Given the description of an element on the screen output the (x, y) to click on. 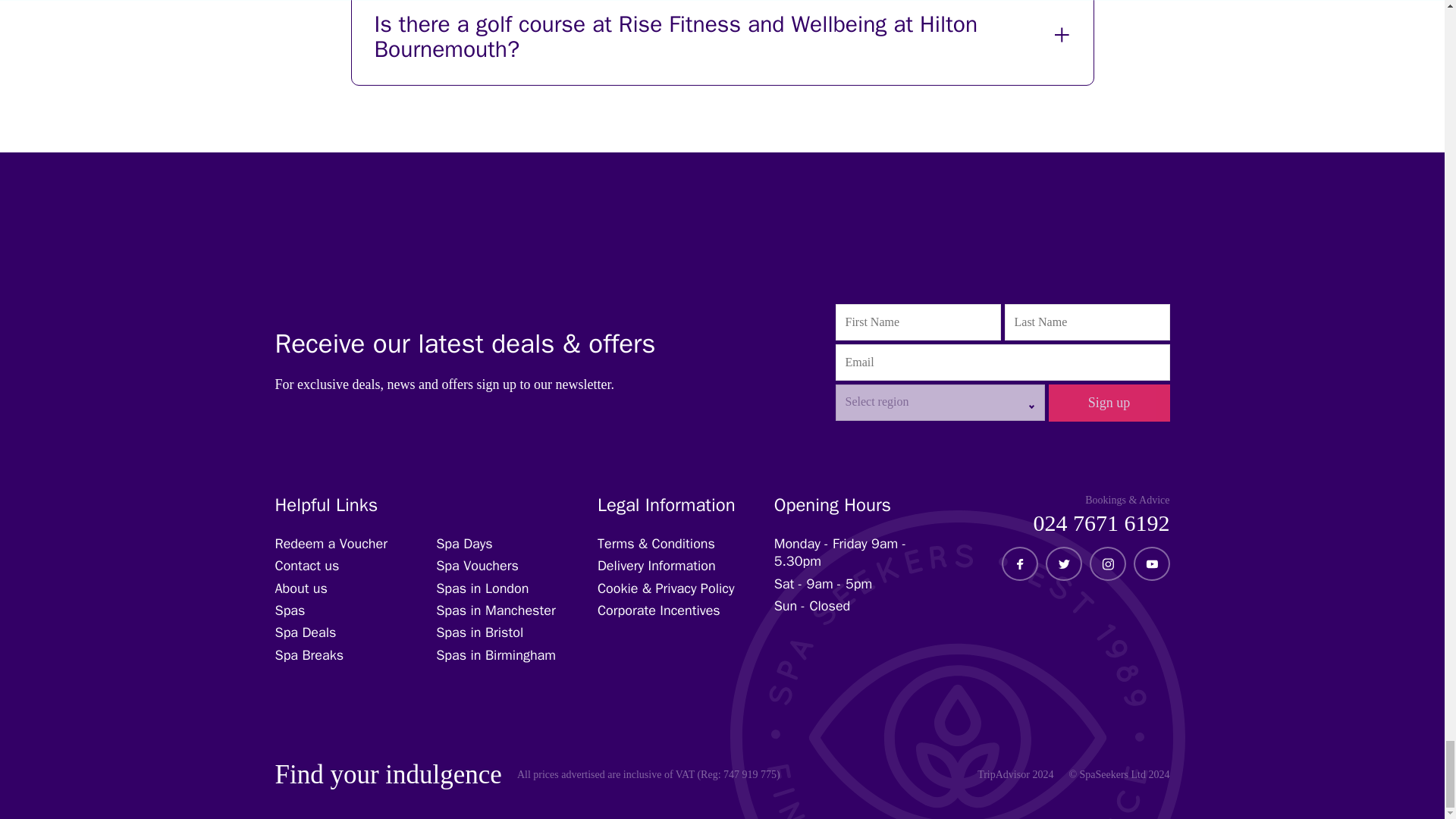
Instagram (1106, 563)
Facebook (1019, 563)
Twitter (1062, 563)
Youtube (1150, 563)
